Given the description of an element on the screen output the (x, y) to click on. 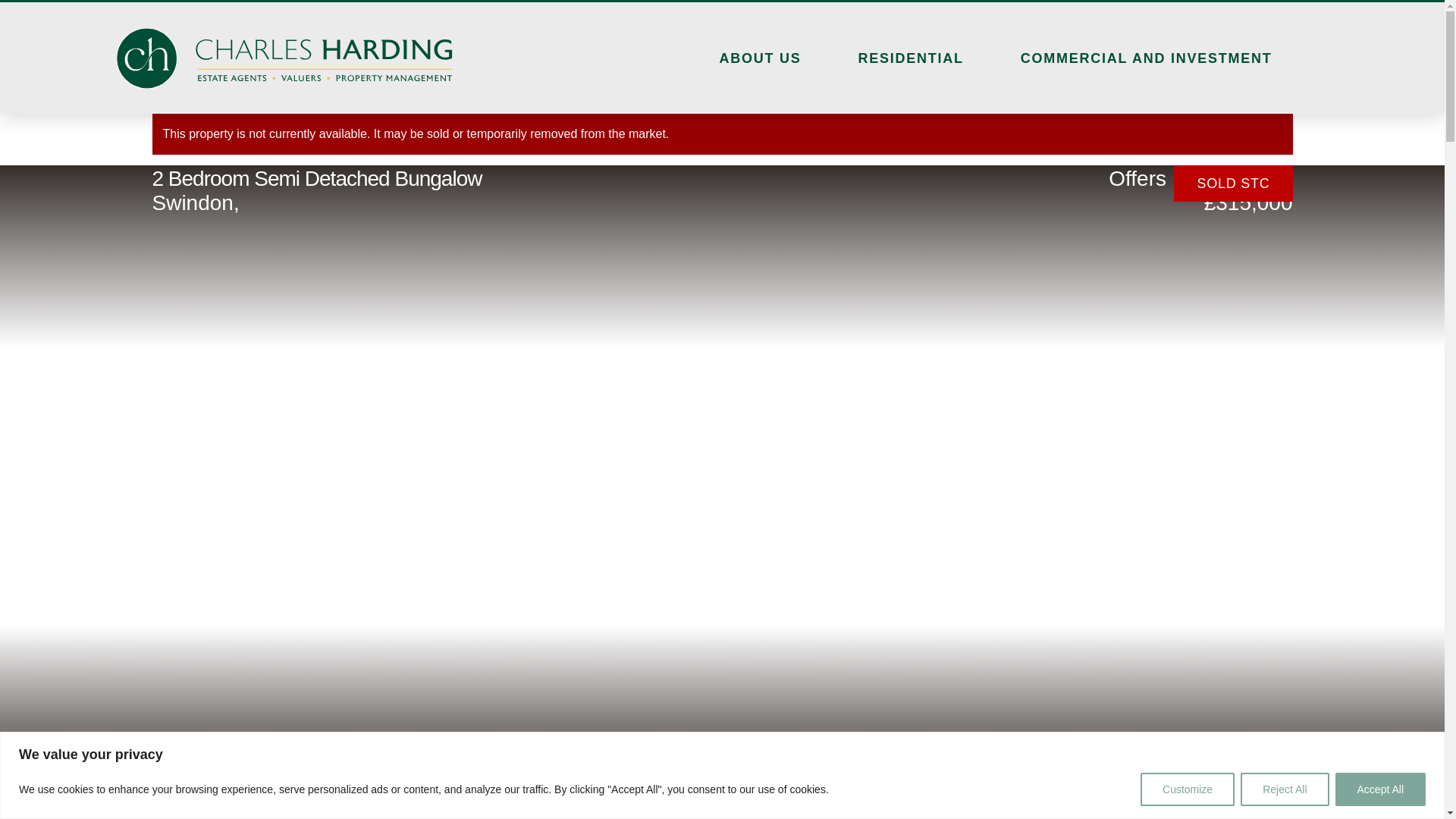
COMMERCIAL AND INVESTMENT (1146, 58)
Customize (1187, 788)
Reject All (1283, 788)
BOOK VALUATION (1296, 800)
ABOUT US (759, 58)
Accept All (1380, 788)
RESIDENTIAL (909, 58)
